Given the description of an element on the screen output the (x, y) to click on. 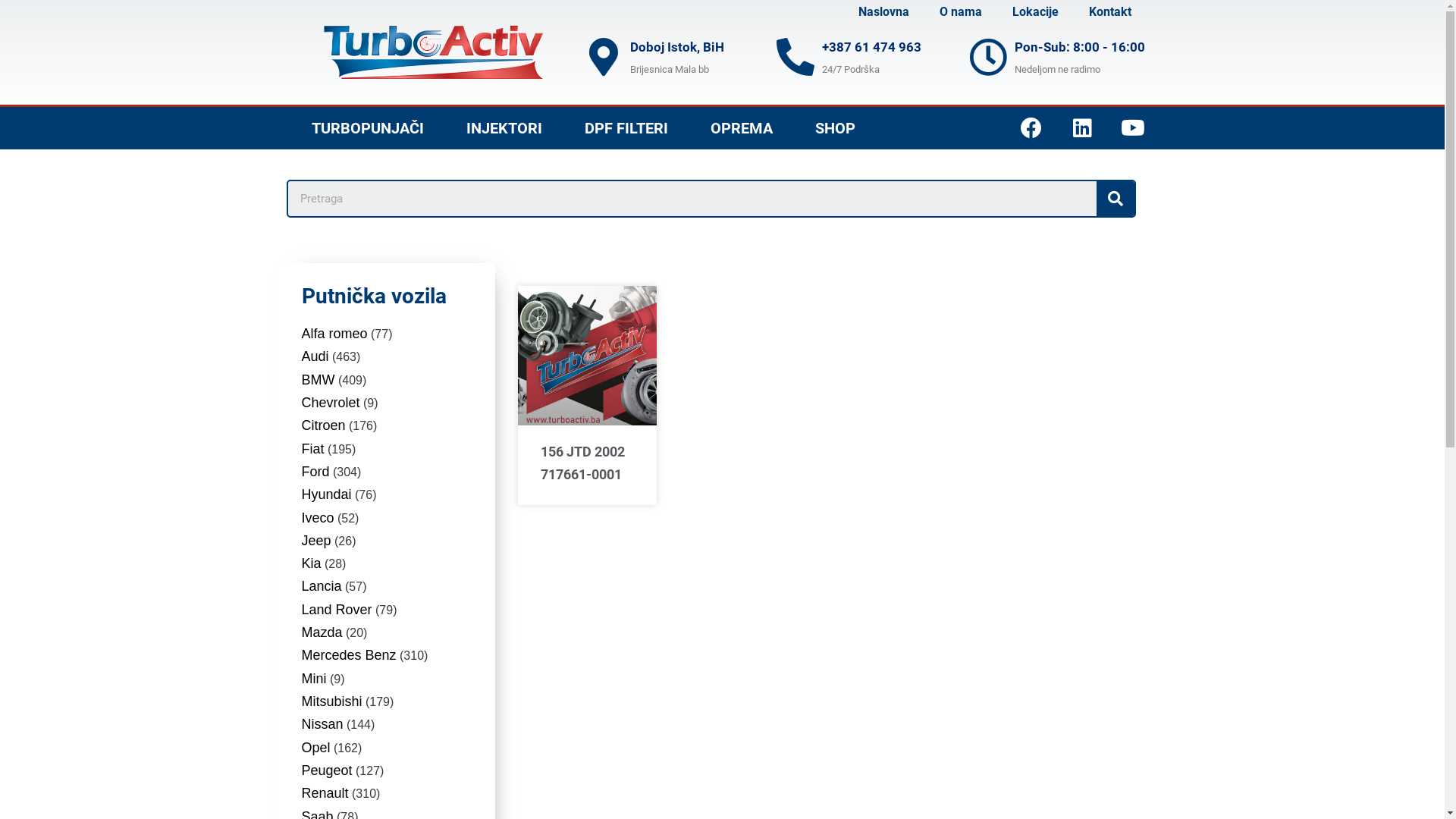
Renault Element type: text (324, 792)
OPREMA Element type: text (740, 127)
BMW Element type: text (318, 379)
Search Element type: hover (692, 198)
Audi Element type: text (315, 356)
Mitsubishi Element type: text (331, 701)
Mazda Element type: text (321, 632)
Kia Element type: text (311, 563)
Opel Element type: text (315, 747)
Nissan Element type: text (322, 723)
Land Rover Element type: text (336, 609)
Skip to content Element type: text (15, 31)
INJEKTORI Element type: text (503, 127)
SHOP Element type: text (834, 127)
Search Element type: hover (1115, 198)
Jeep Element type: text (316, 540)
Peugeot Element type: text (326, 770)
Ford Element type: text (315, 471)
Alfa romeo Element type: text (334, 333)
Citroen Element type: text (323, 425)
Lancia Element type: text (321, 585)
Iveco Element type: text (317, 516)
Fiat Element type: text (312, 448)
Chevrolet Element type: text (330, 402)
Mercedes Benz Element type: text (348, 654)
Hyundai Element type: text (326, 494)
Mini Element type: text (313, 678)
156 JTD 2002 717661-0001 Element type: text (581, 462)
DPF FILTERI Element type: text (625, 127)
